Given the description of an element on the screen output the (x, y) to click on. 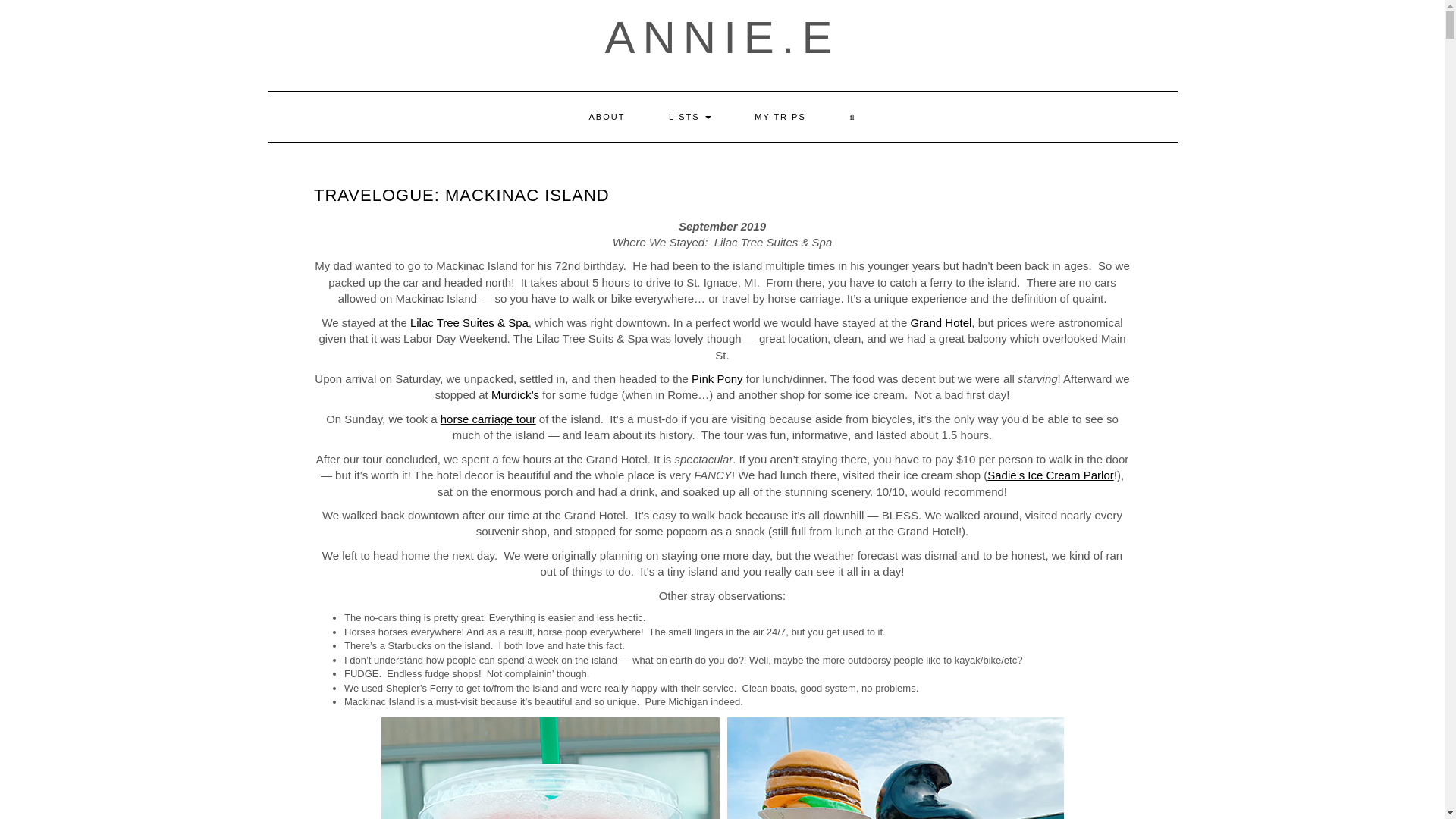
ABOUT (606, 116)
MY TRIPS (780, 116)
horse carriage tour (488, 418)
Grand Hotel (940, 322)
LISTS (689, 116)
Pink Pony (716, 378)
ANNIE.E (722, 37)
